Given the description of an element on the screen output the (x, y) to click on. 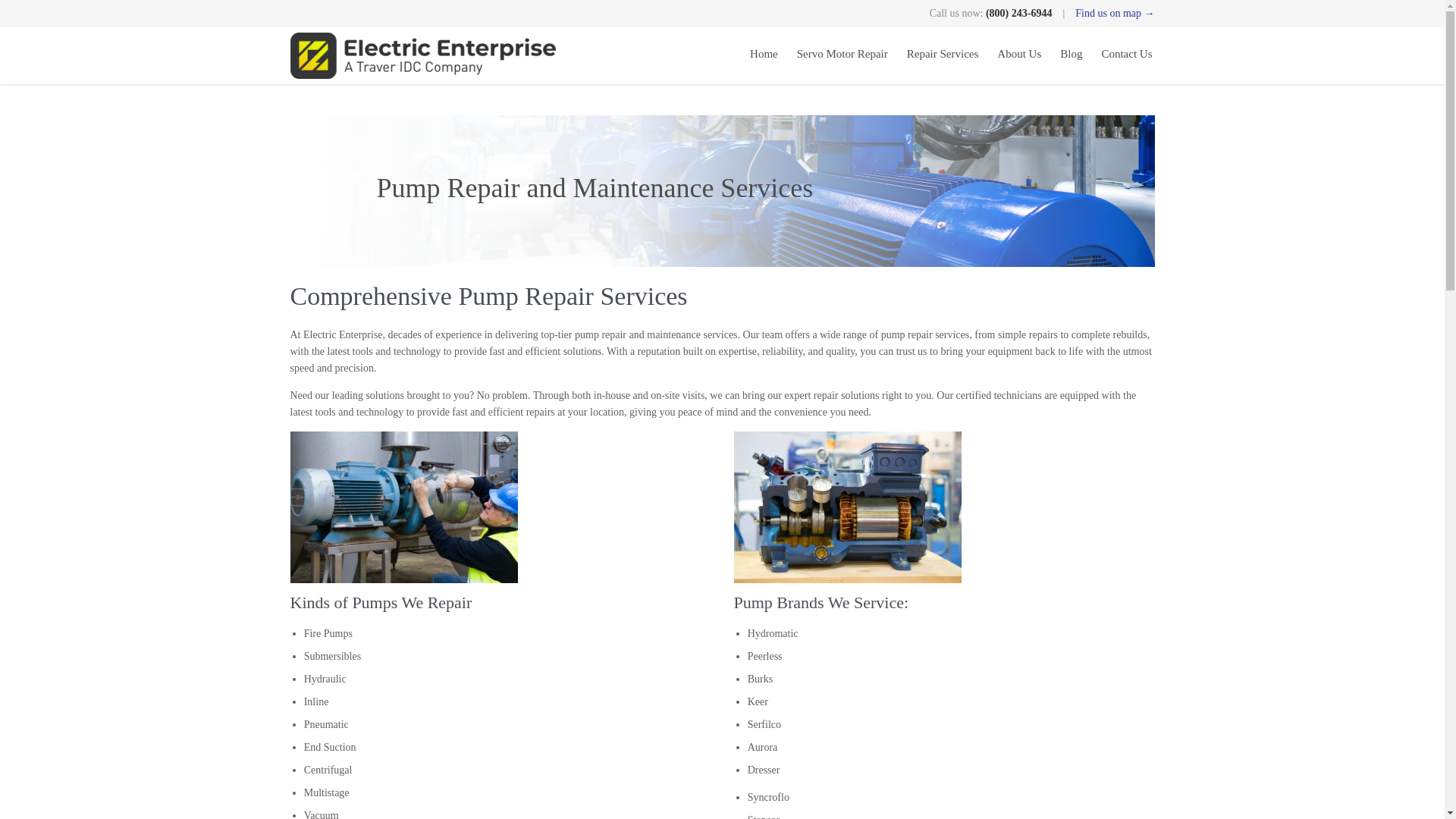
About Us (1019, 55)
Servo Motor Repair (842, 55)
Contact Us (1125, 55)
Electric Enterprise (421, 55)
Blog (1070, 55)
Home (763, 55)
Repair Services (942, 55)
